Given the description of an element on the screen output the (x, y) to click on. 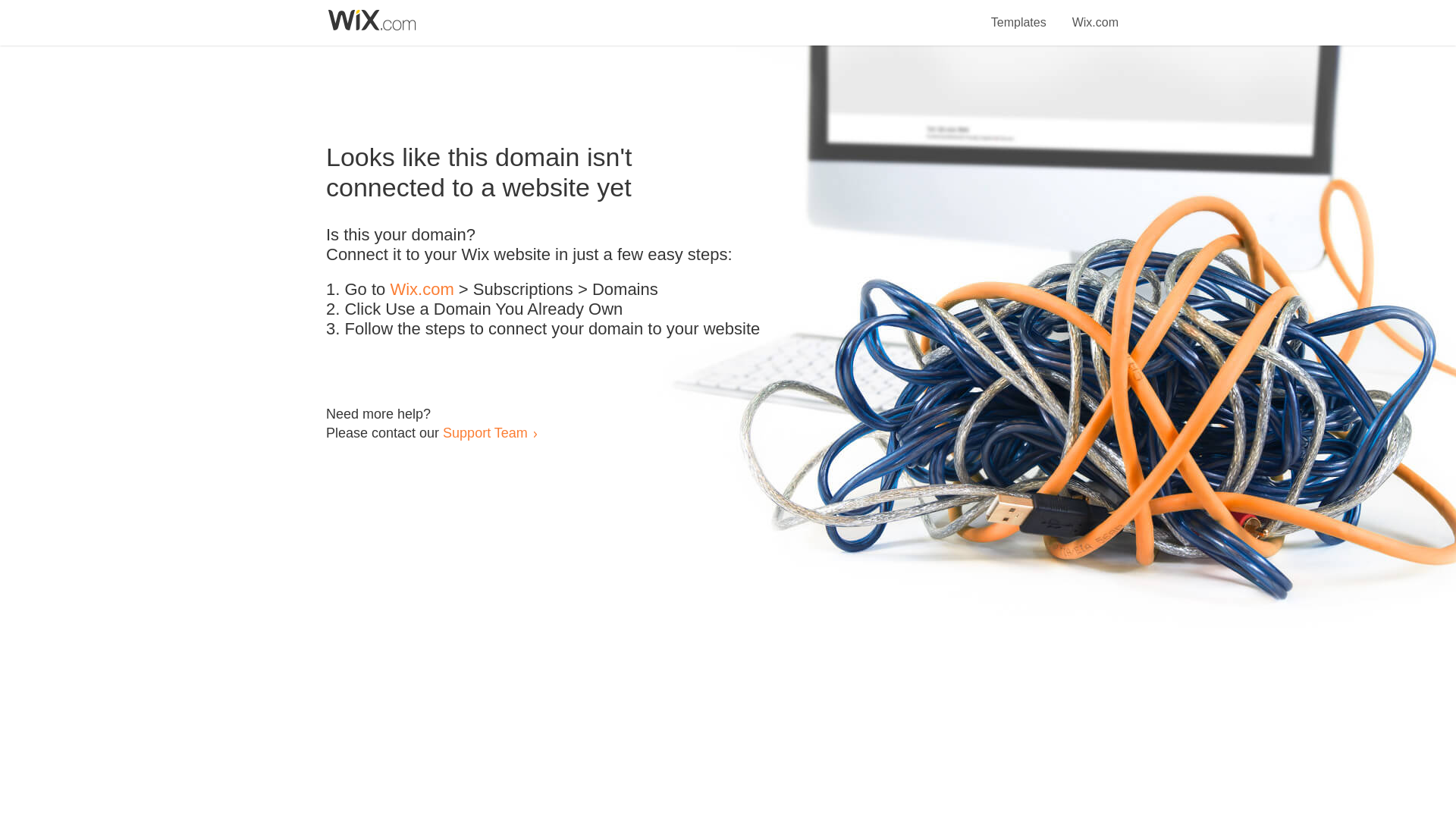
Support Team (484, 432)
Templates (1018, 14)
Wix.com (421, 289)
Wix.com (1095, 14)
